Given the description of an element on the screen output the (x, y) to click on. 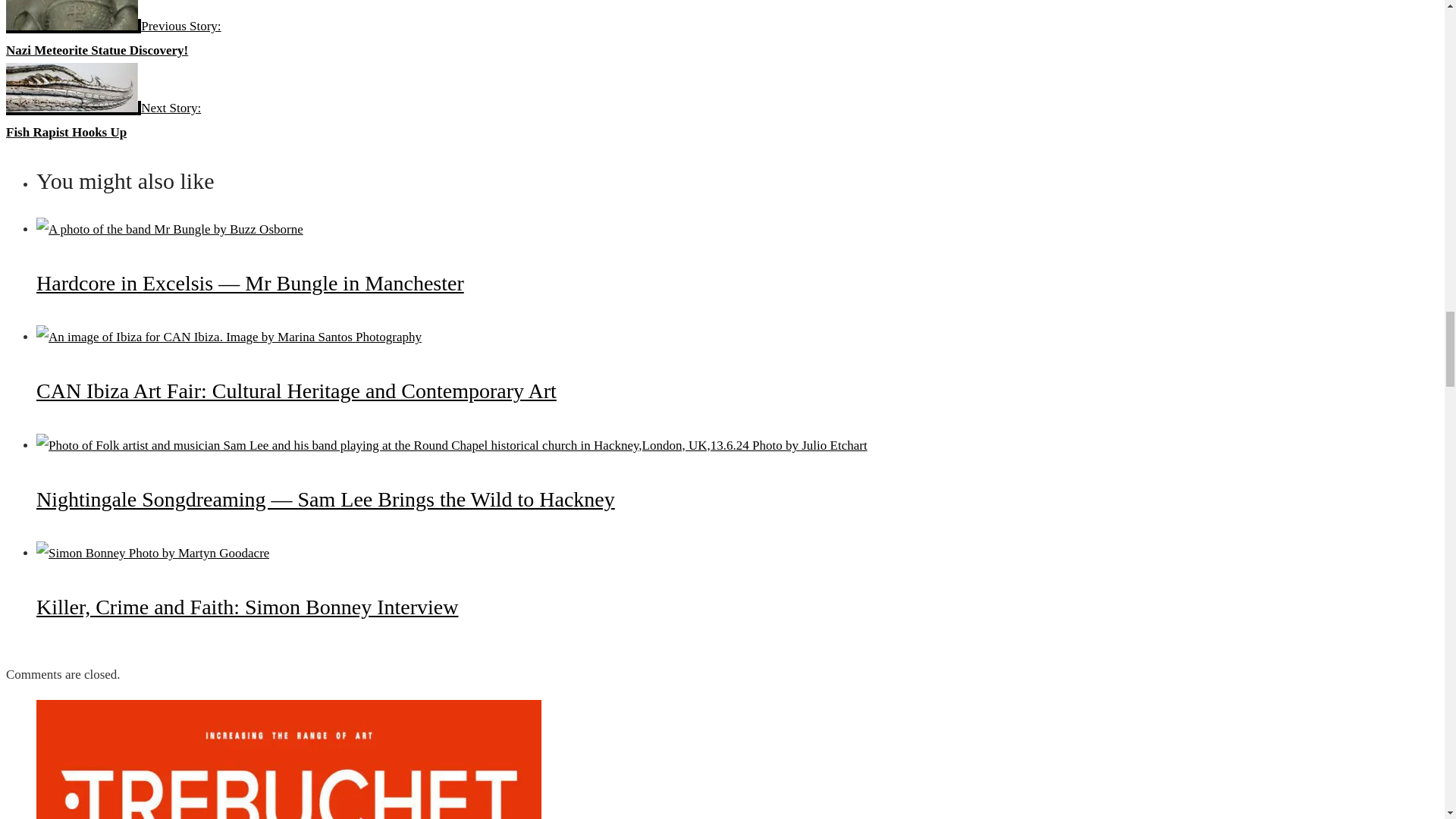
Killer, Crime and Faith: Simon Bonney Interview (247, 607)
CAN Ibiza Art Fair: Cultural Heritage and Contemporary Art (229, 336)
CAN Ibiza Art Fair: Cultural Heritage and Contemporary Art (296, 390)
Killer, Crime and Faith: Simon Bonney Interview (152, 553)
